Given the description of an element on the screen output the (x, y) to click on. 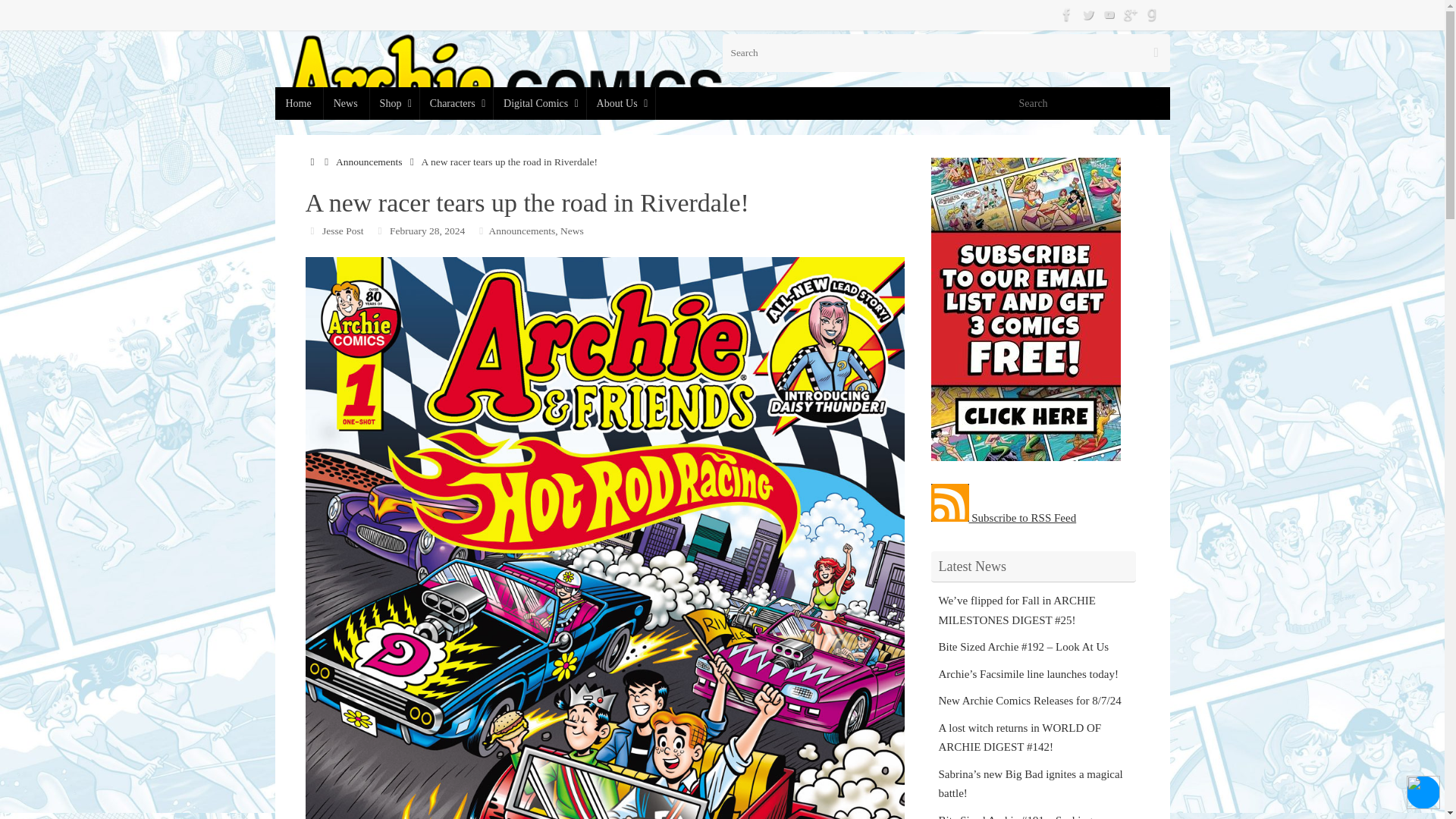
News (571, 229)
Jesse Post (341, 229)
Announcements (369, 161)
Home Page (298, 102)
February 28, 2024 (427, 229)
News (346, 102)
Characters (456, 102)
About Us (620, 102)
Archie Comics Twitter (1087, 14)
Archie Comics Shop (394, 102)
